Given the description of an element on the screen output the (x, y) to click on. 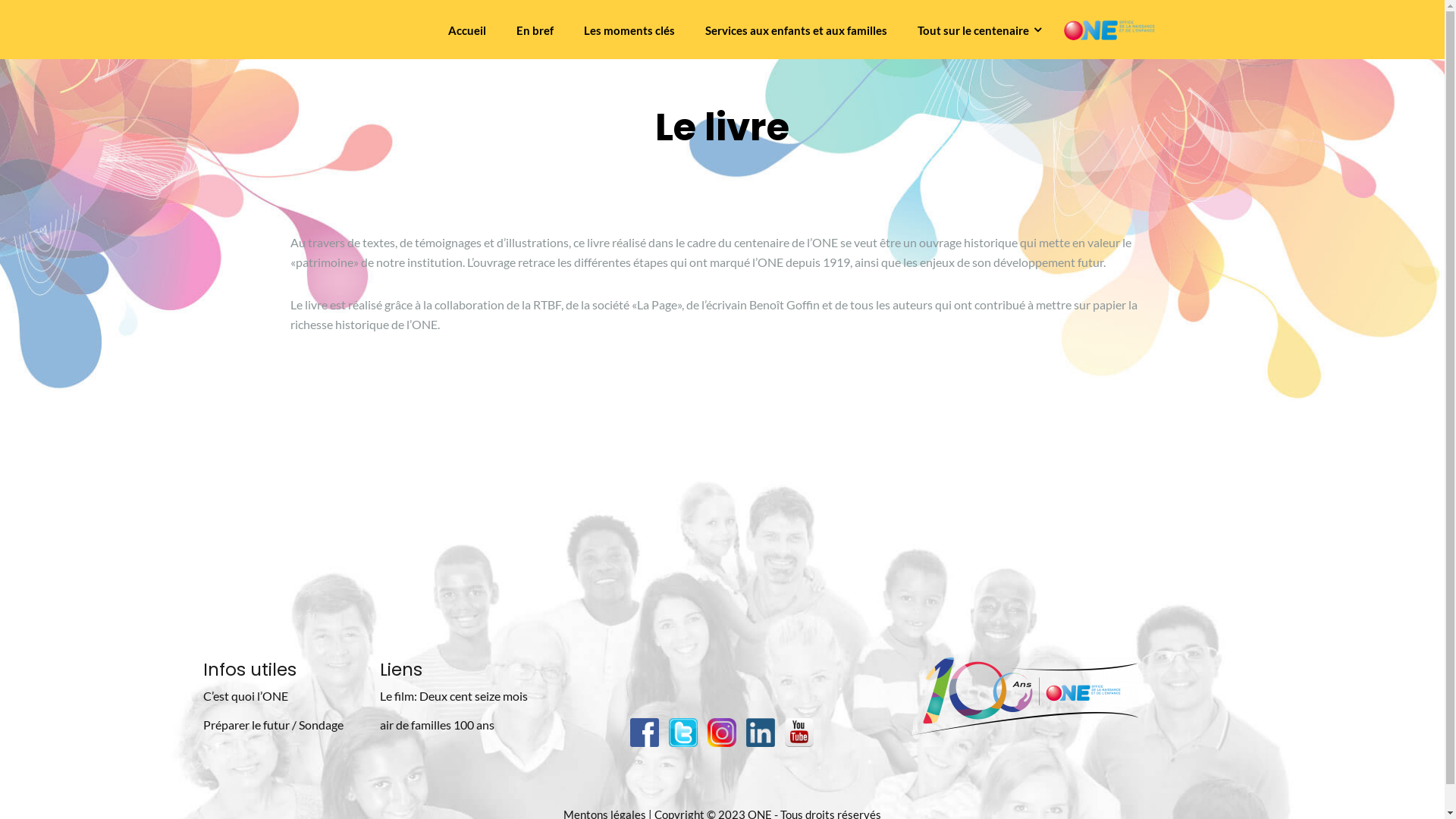
Accueil Element type: text (466, 30)
100 ANS de l'ONE Element type: hover (1108, 28)
air de familles 100 ans Element type: text (436, 724)
En bref Element type: text (533, 30)
Tout sur le centenaire Element type: text (979, 30)
Services aux enfants et aux familles Element type: text (796, 30)
Le film: Deux cent seize mois Element type: text (453, 695)
